Given the description of an element on the screen output the (x, y) to click on. 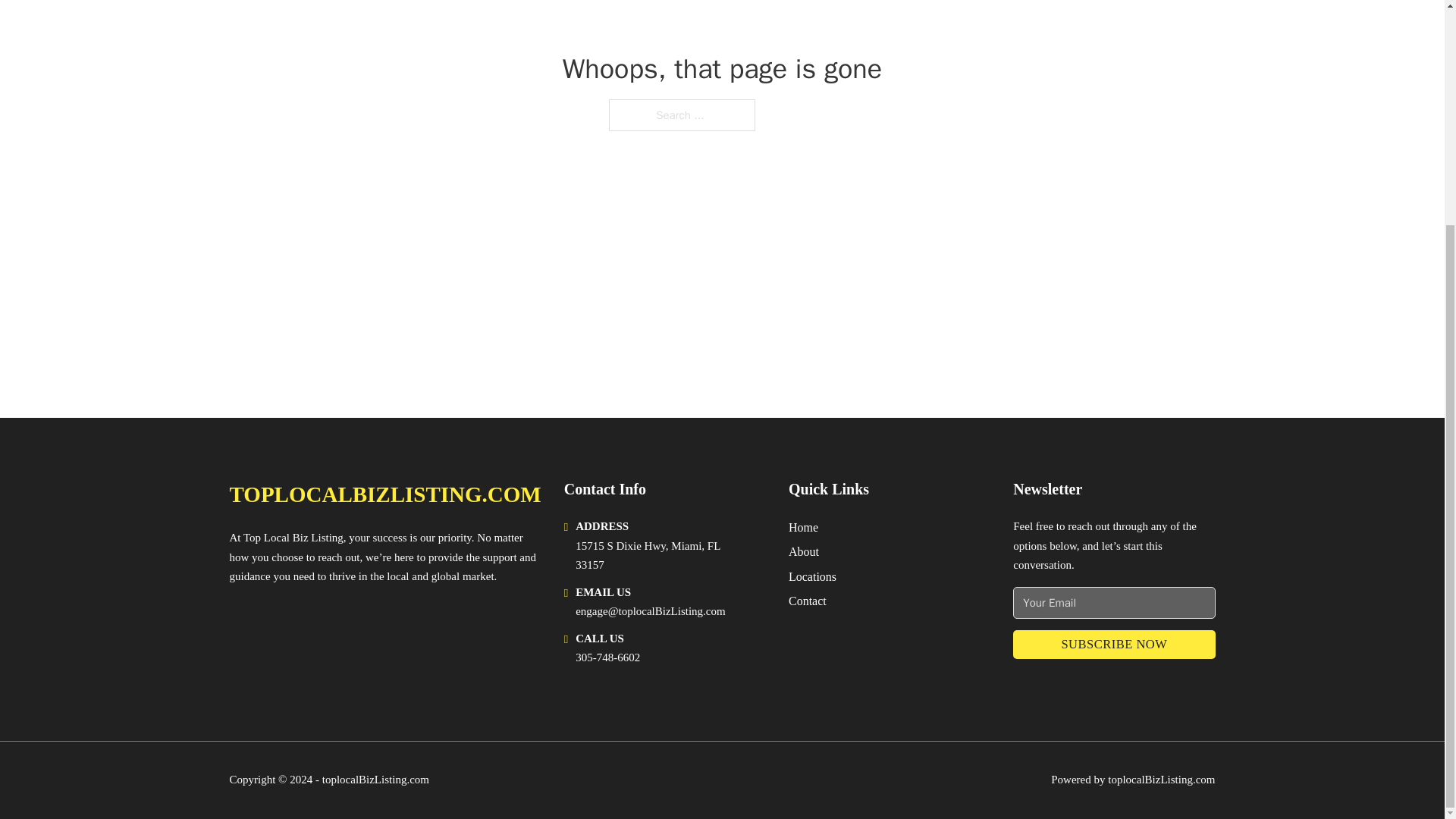
About (803, 551)
Home (803, 526)
Contact (808, 600)
TOPLOCALBIZLISTING.COM (384, 494)
305-748-6602 (607, 657)
SUBSCRIBE NOW (1113, 644)
Locations (812, 576)
